Given the description of an element on the screen output the (x, y) to click on. 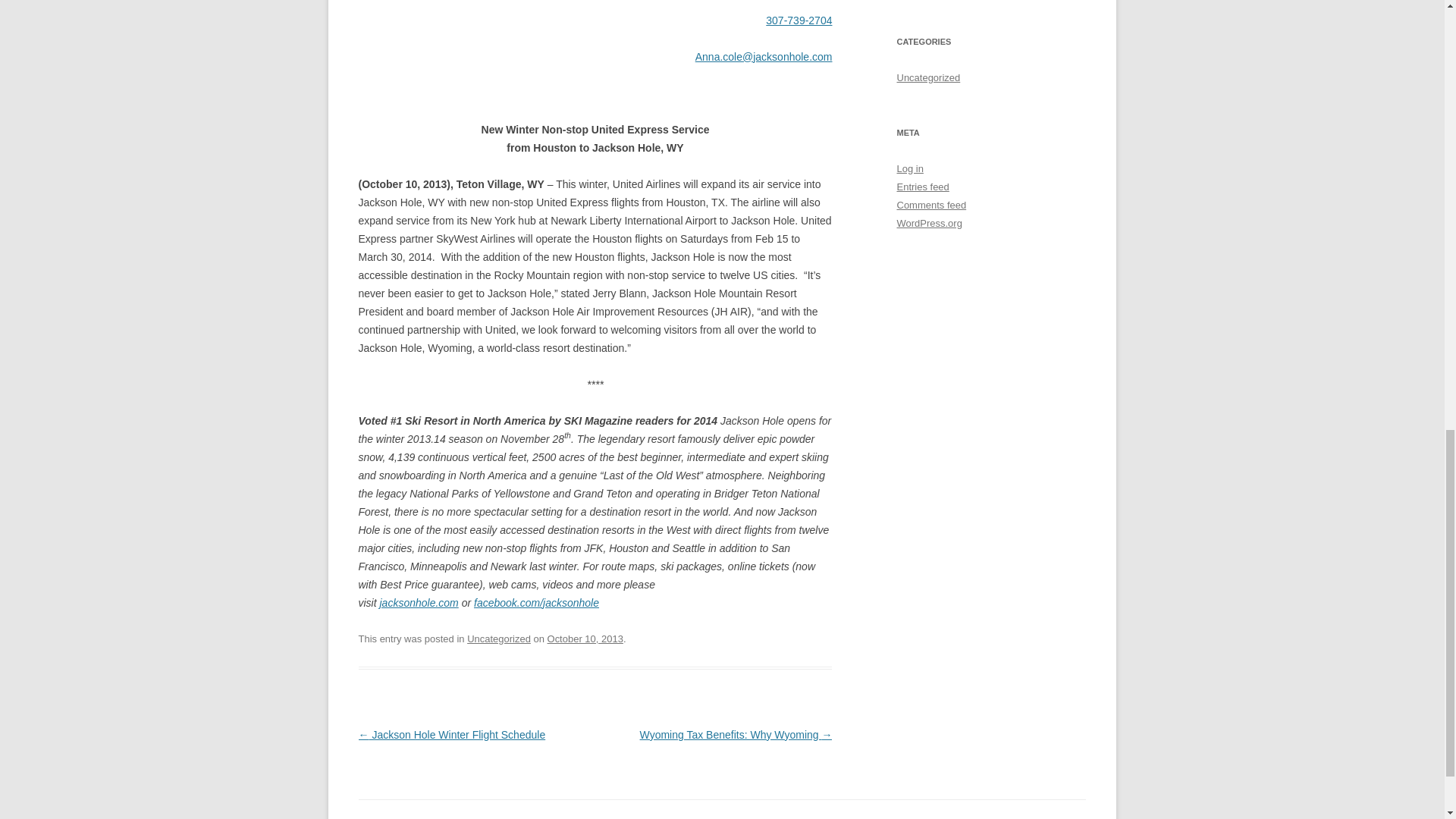
Uncategorized (499, 638)
Uncategorized (927, 77)
Log in (909, 168)
October 10, 2013 (585, 638)
Comments feed (931, 204)
Entries feed (922, 186)
307-739-2704 (798, 20)
5:03 pm (585, 638)
jacksonhole.com (418, 603)
